Given the description of an element on the screen output the (x, y) to click on. 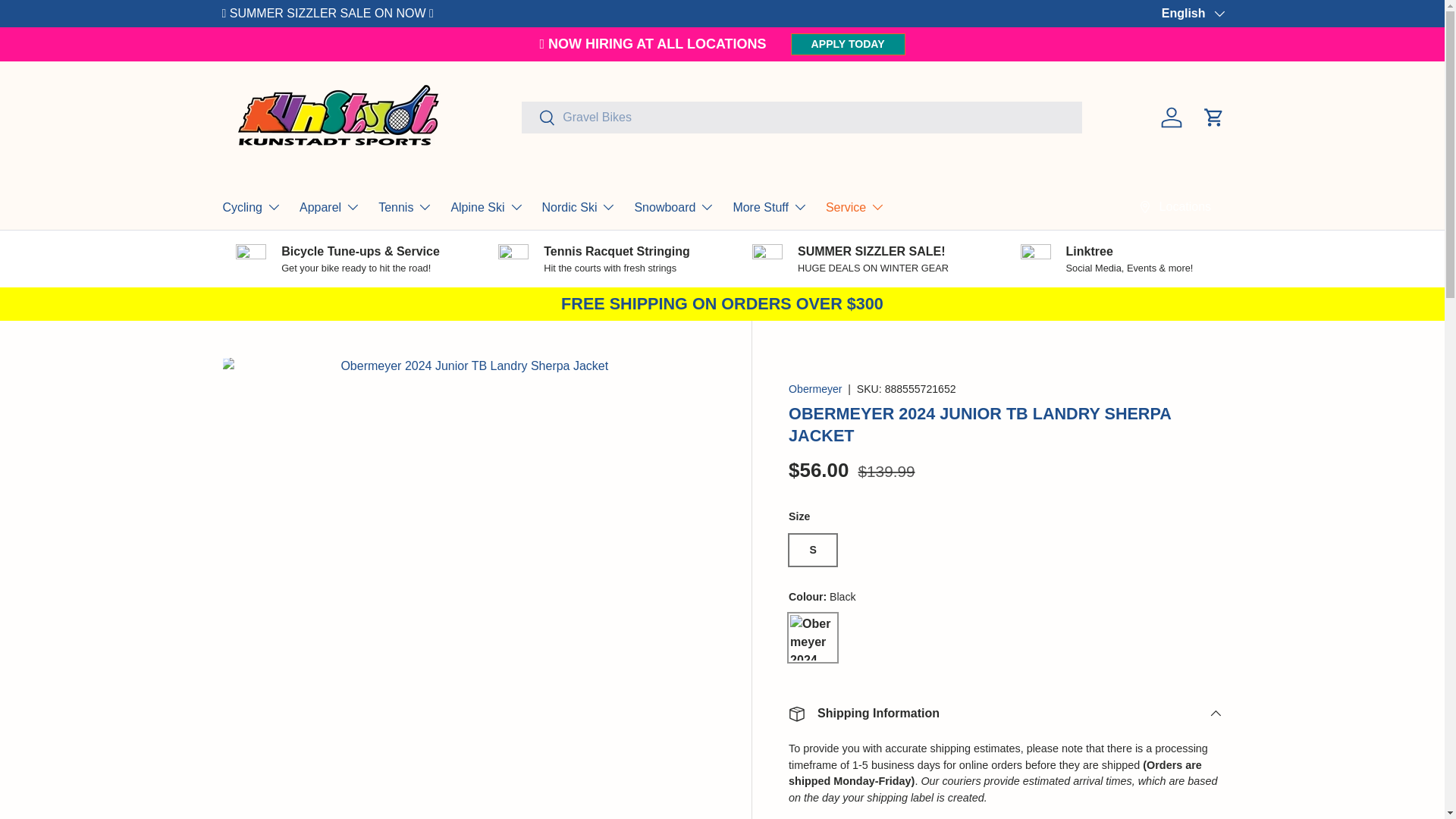
SKIP TO CONTENT (68, 21)
Log in (1171, 117)
Contact Us (1192, 12)
SUMMER SIZZLER SALE ON NOW (329, 12)
Summer Sizzler Ski Sale (329, 12)
APPLY TODAY (847, 44)
English (1192, 13)
Cycling (251, 206)
CONTACT US (1192, 12)
Cart (1213, 117)
Search (538, 118)
